Given the description of an element on the screen output the (x, y) to click on. 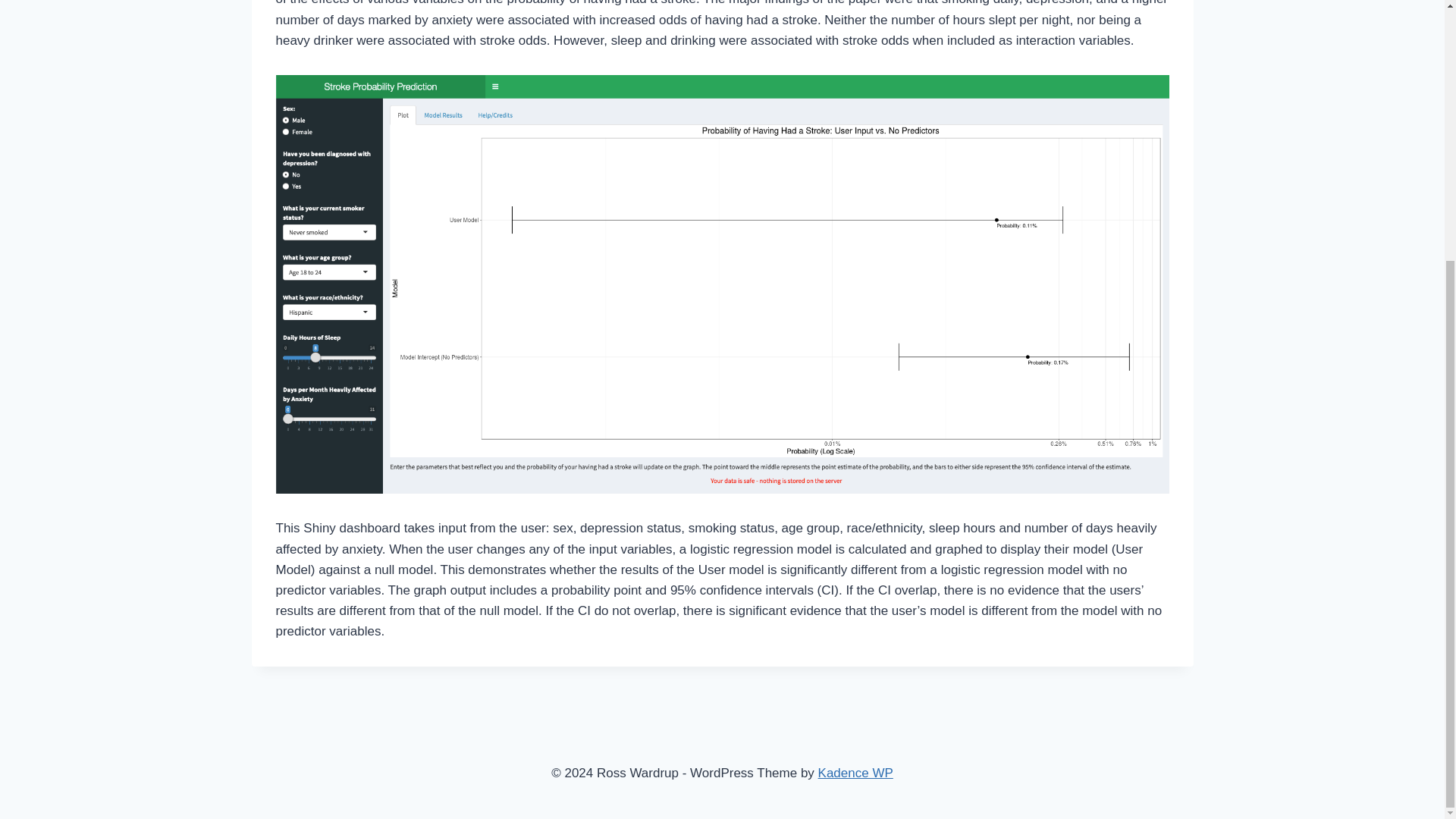
Kadence WP (855, 772)
